Given the description of an element on the screen output the (x, y) to click on. 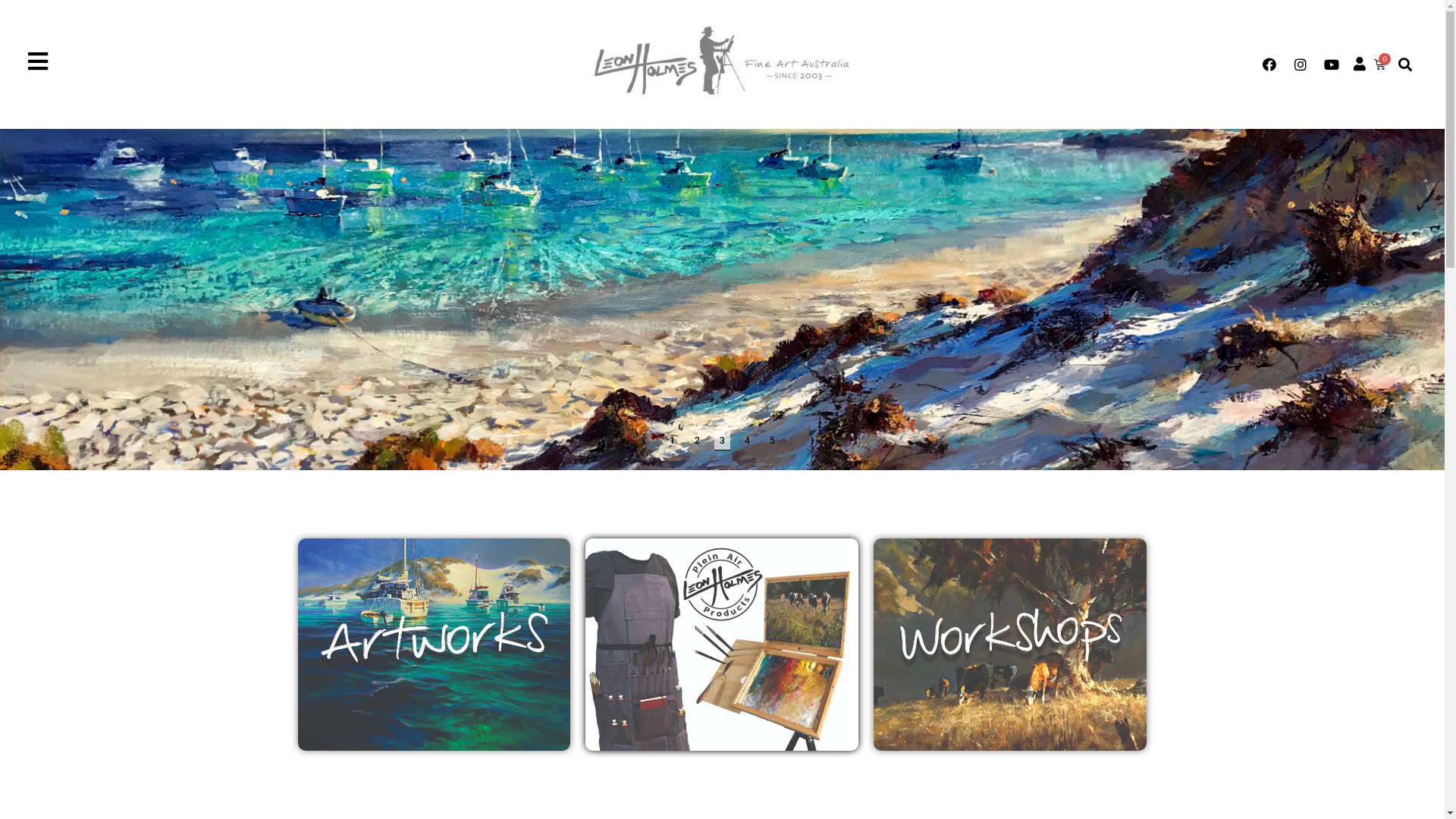
Logo Grey Fineart Sonce2003 Element type: hover (721, 64)
0 Element type: text (1379, 64)
